Given the description of an element on the screen output the (x, y) to click on. 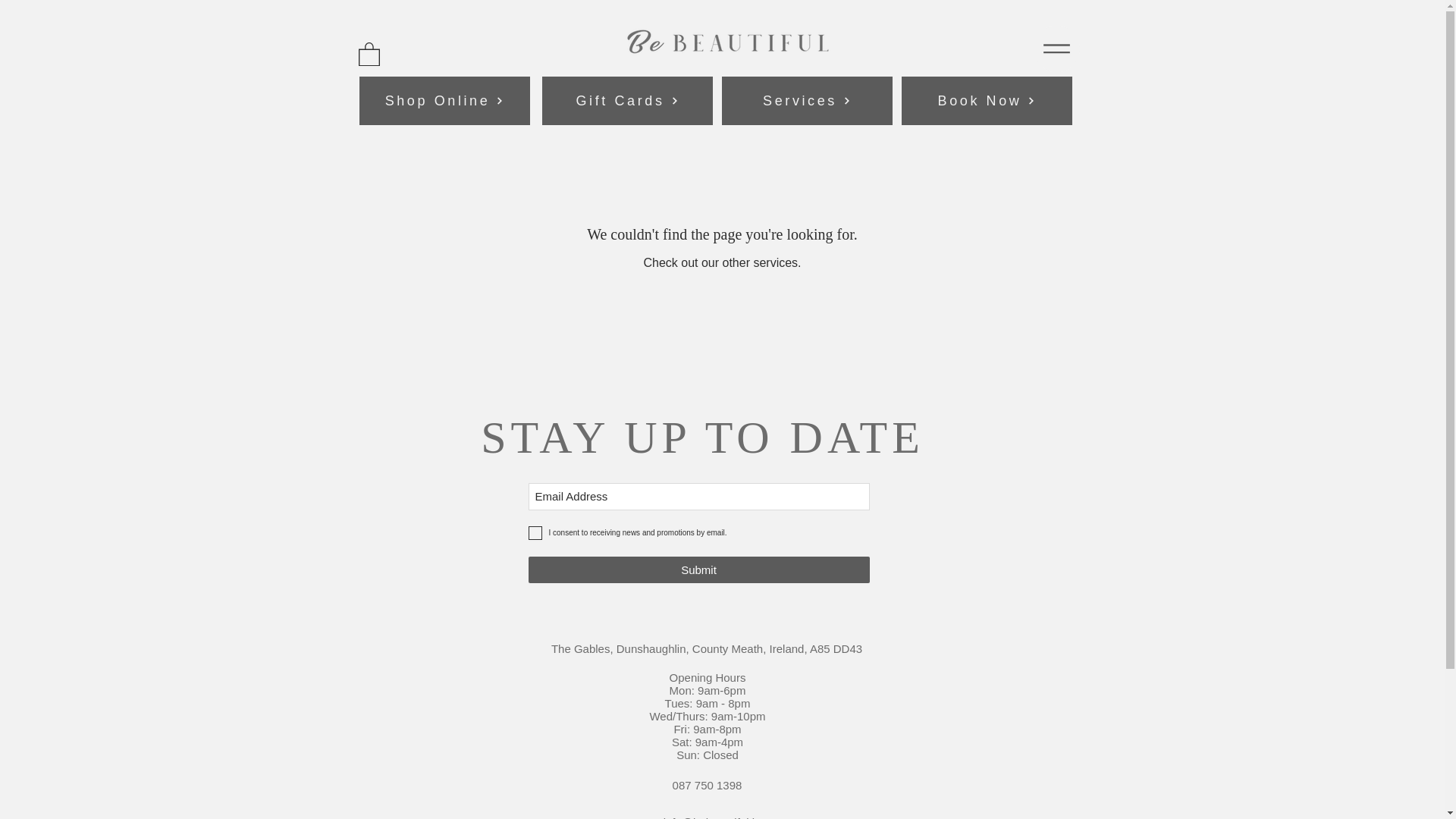
087 750 1398 (707, 784)
Gift Cards (627, 101)
Book Now (987, 101)
Opening Hours (707, 676)
Services (806, 101)
Submit (698, 569)
Shop Online (443, 101)
